Given the description of an element on the screen output the (x, y) to click on. 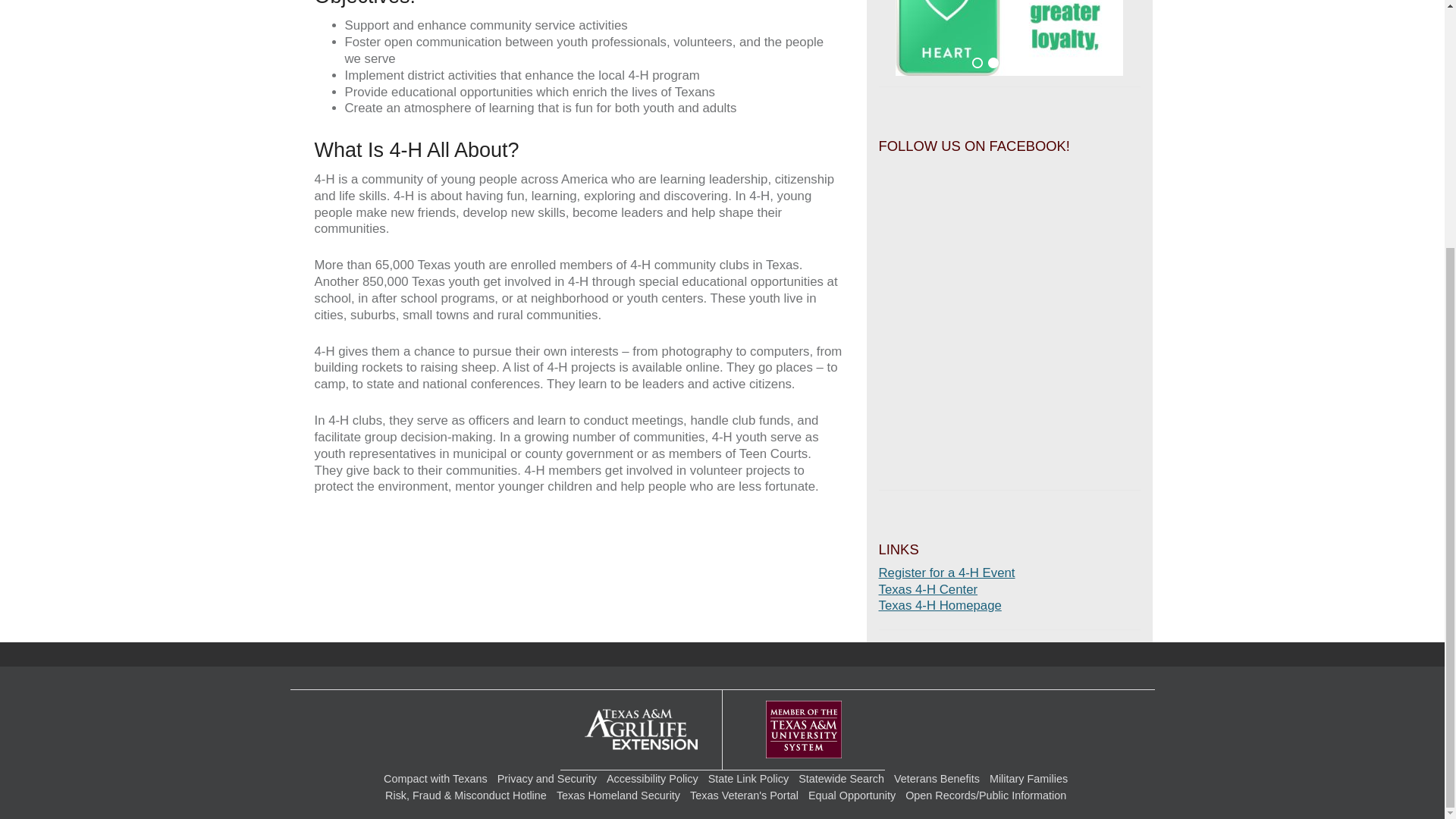
Equal Opportunity (851, 795)
Privacy and Security (546, 778)
Veterans Benefits (936, 778)
Accessibility Policy (652, 778)
Statewide Search (840, 778)
Register for a 4-H Event (945, 572)
Texas Homeland Security (617, 795)
Military Families (1028, 778)
State Link Policy (748, 778)
Compact with Texans (435, 778)
Texas 4-H Homepage (939, 605)
Texas Veteran's Portal (743, 795)
Texas 4-H Center (926, 589)
